Given the description of an element on the screen output the (x, y) to click on. 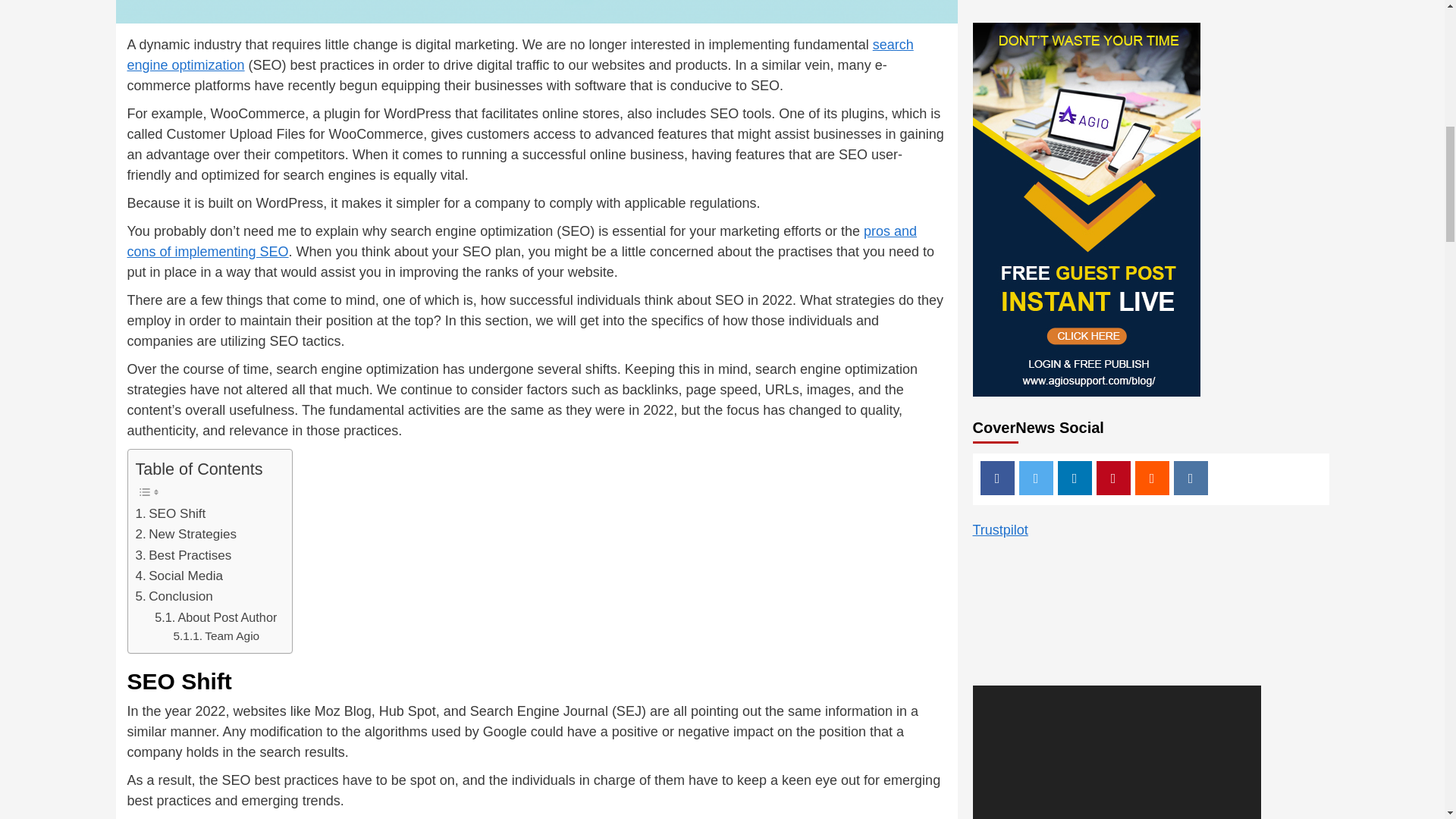
Advertisement (1116, 40)
Best Practises (183, 555)
SEO Shift (170, 513)
Conclusion (173, 596)
About Post Author (215, 617)
Social Media (178, 575)
Advertisement (1151, 484)
Mute (1216, 242)
New Strategies (185, 534)
Play (991, 242)
Fullscreen (1240, 242)
